Given the description of an element on the screen output the (x, y) to click on. 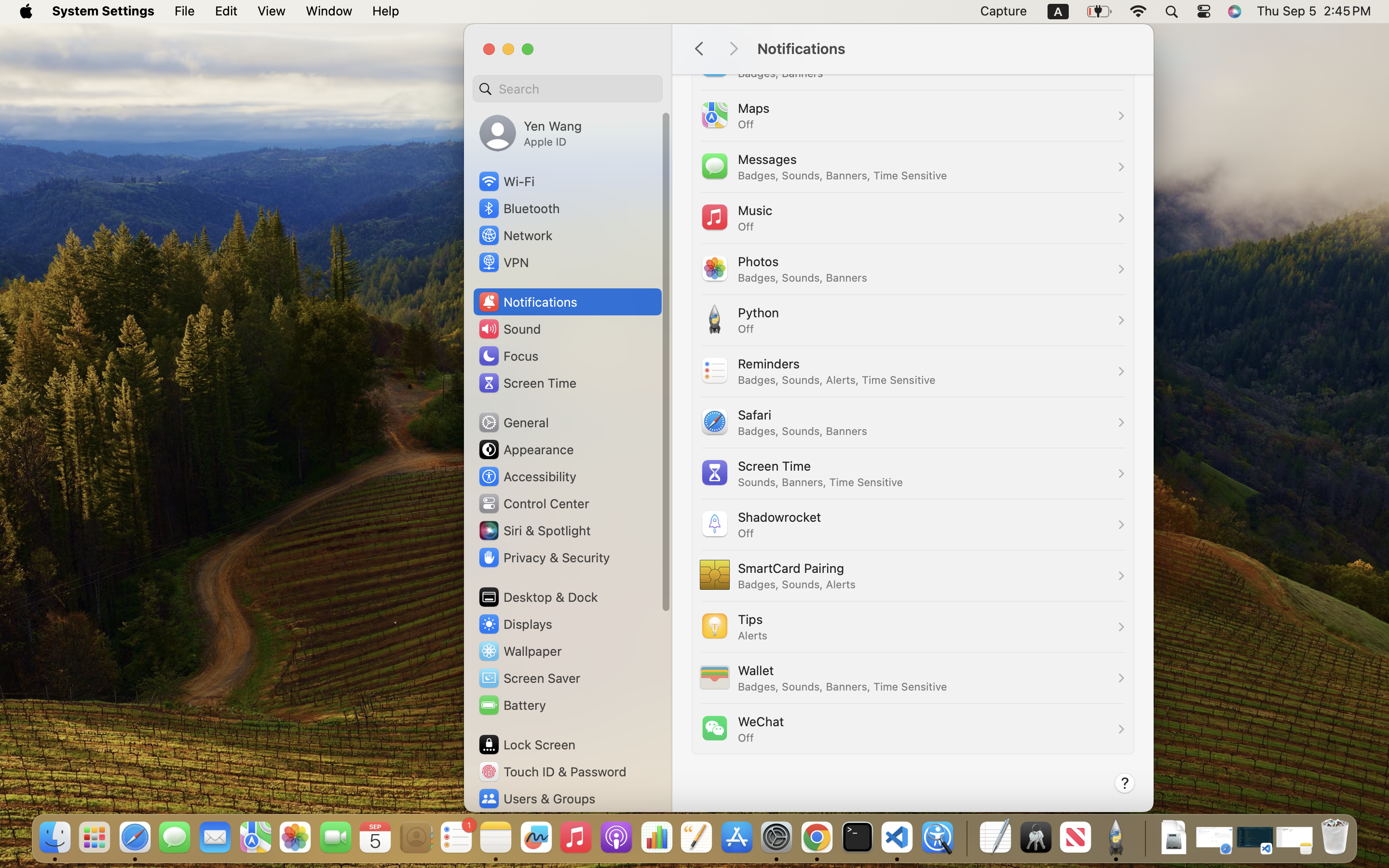
Control Center Element type: AXStaticText (533, 503)
Touch ID & Password Element type: AXStaticText (551, 771)
Wallpaper Element type: AXStaticText (519, 650)
Screen Saver Element type: AXStaticText (528, 677)
Accessibility Element type: AXStaticText (526, 476)
